Given the description of an element on the screen output the (x, y) to click on. 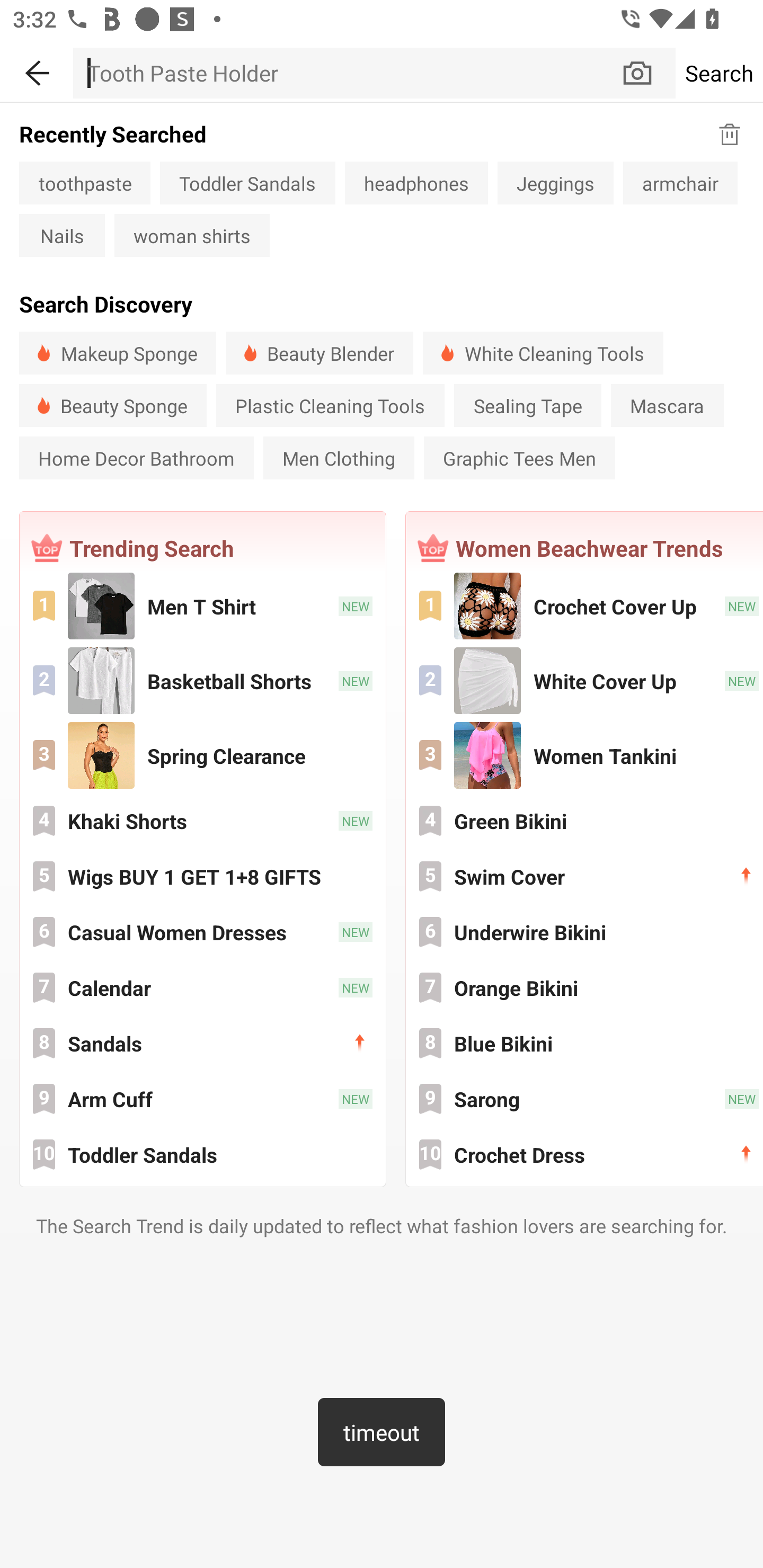
BACK (36, 69)
Tooth Paste Holder (346, 72)
Search (719, 72)
toothpaste (84, 182)
Toddler Sandals (247, 182)
headphones (416, 182)
Jeggings (555, 182)
armchair (680, 182)
Nails (62, 235)
woman shirts (191, 235)
Makeup Sponge (117, 352)
Beauty Blender (319, 352)
White Cleaning Tools (542, 352)
Beauty Sponge (112, 405)
Plastic Cleaning Tools (329, 405)
Sealing Tape (527, 405)
Mascara (667, 405)
Home Decor Bathroom (136, 457)
Men Clothing (338, 457)
Graphic Tees Men (519, 457)
Men T Shirt 1 Men T Shirt NEW (202, 605)
Crochet Cover Up 1 Crochet Cover Up NEW (584, 605)
Basketball Shorts 2 Basketball Shorts NEW (202, 680)
White Cover Up 2 White Cover Up NEW (584, 680)
Spring Clearance 3 Spring Clearance (202, 754)
Women Tankini 3 Women Tankini (584, 754)
Khaki Shorts 4 Khaki Shorts NEW (202, 820)
Green Bikini 4 Green Bikini (584, 820)
Swim Cover 5 Swim Cover (584, 876)
Casual Women Dresses 6 Casual Women Dresses NEW (202, 930)
Underwire Bikini 6 Underwire Bikini (584, 930)
Calendar 7 Calendar NEW (202, 987)
Orange Bikini 7 Orange Bikini (584, 987)
Sandals 8 Sandals (202, 1042)
Blue Bikini 8 Blue Bikini (584, 1042)
Arm Cuff 9 Arm Cuff NEW (202, 1098)
Sarong 9 Sarong NEW (584, 1098)
Toddler Sandals 10 Toddler Sandals (202, 1153)
Crochet Dress 10 Crochet Dress (584, 1153)
